Given the description of an element on the screen output the (x, y) to click on. 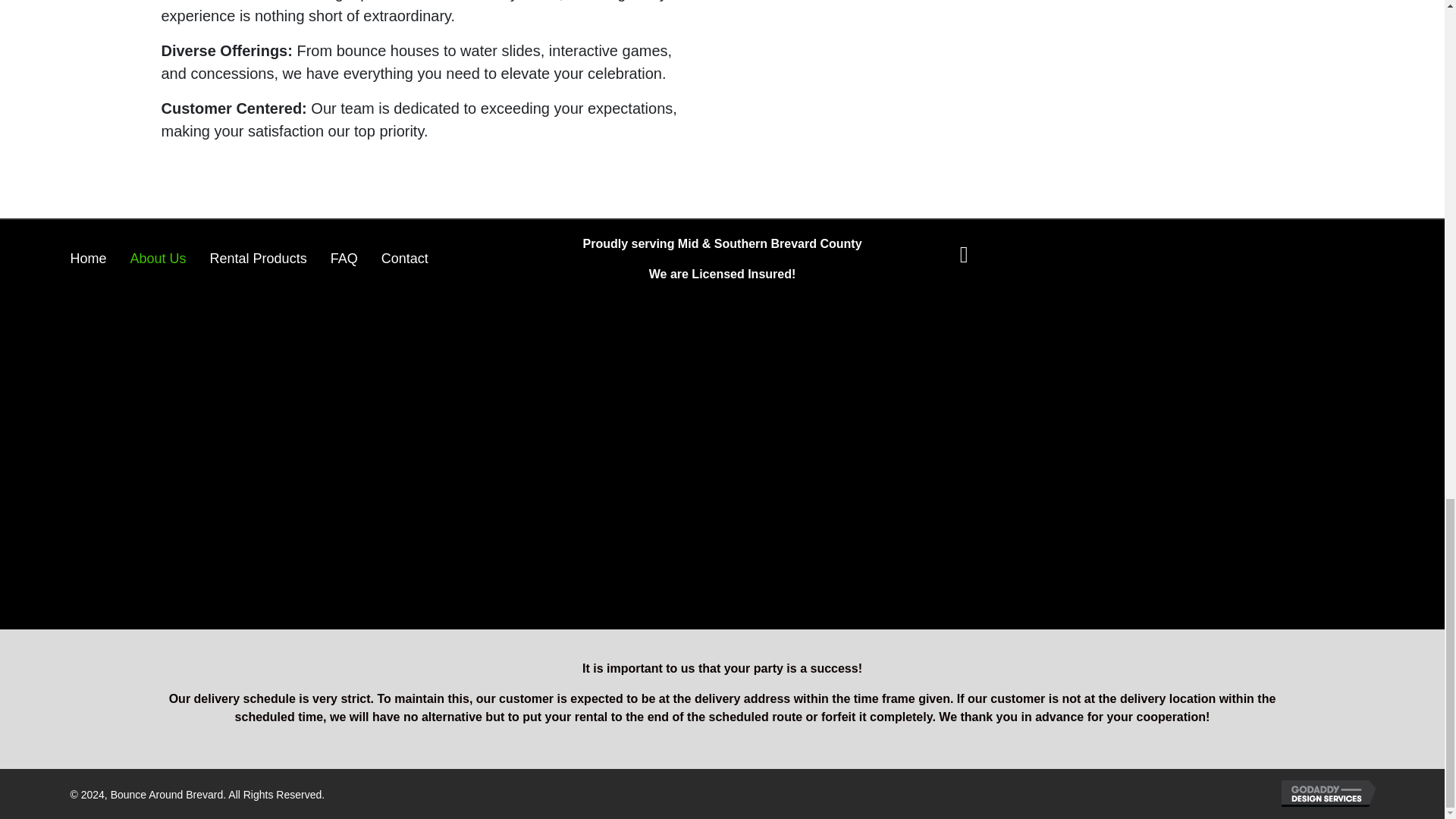
About Us (158, 258)
FAQ (343, 258)
Home (88, 258)
Rental Products (258, 258)
Contact (404, 258)
